Given the description of an element on the screen output the (x, y) to click on. 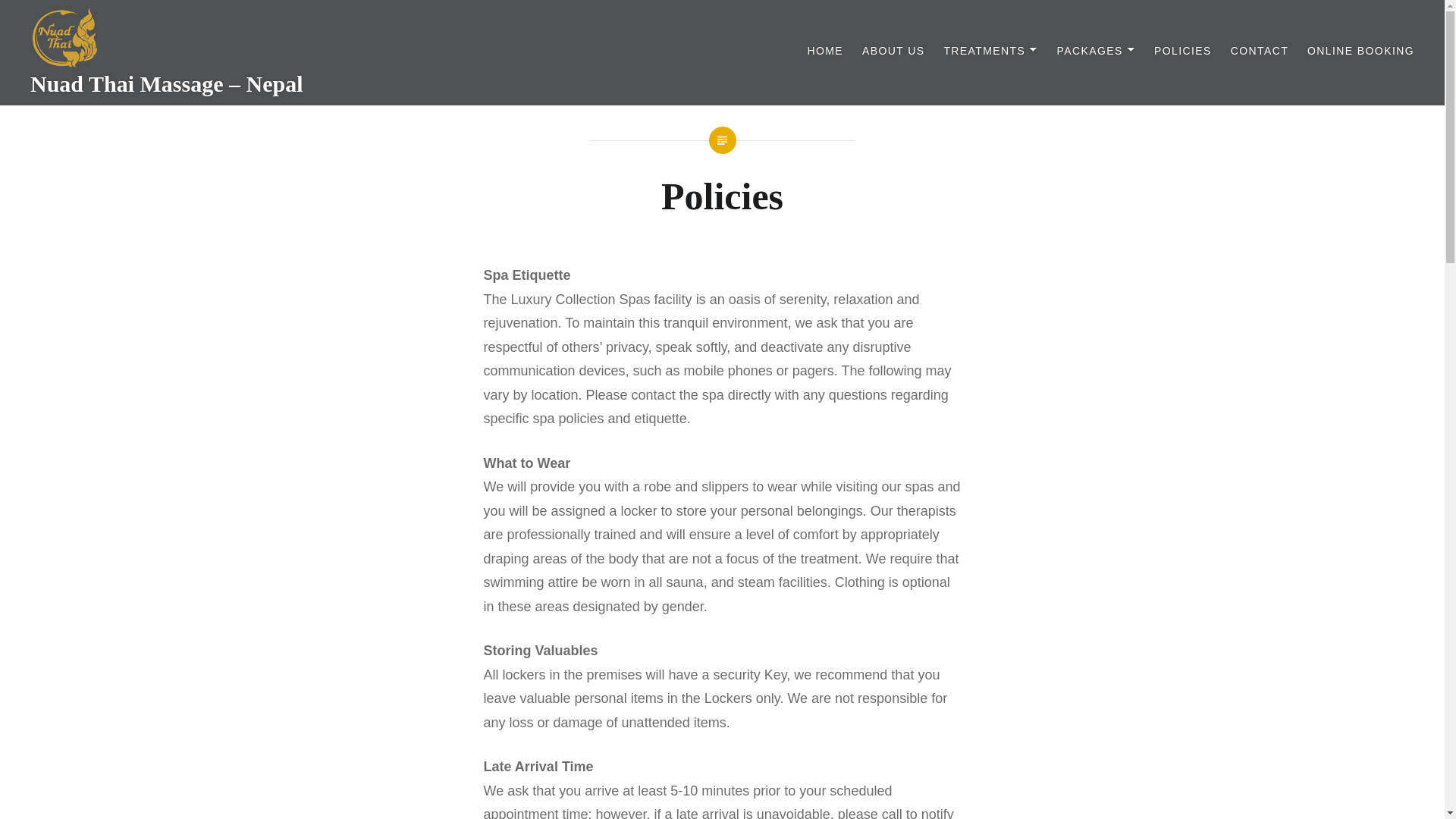
ABOUT US (892, 50)
CONTACT (1259, 50)
ONLINE BOOKING (1360, 50)
PACKAGES (1096, 50)
TREATMENTS (989, 50)
POLICIES (1182, 50)
HOME (824, 50)
